Given the description of an element on the screen output the (x, y) to click on. 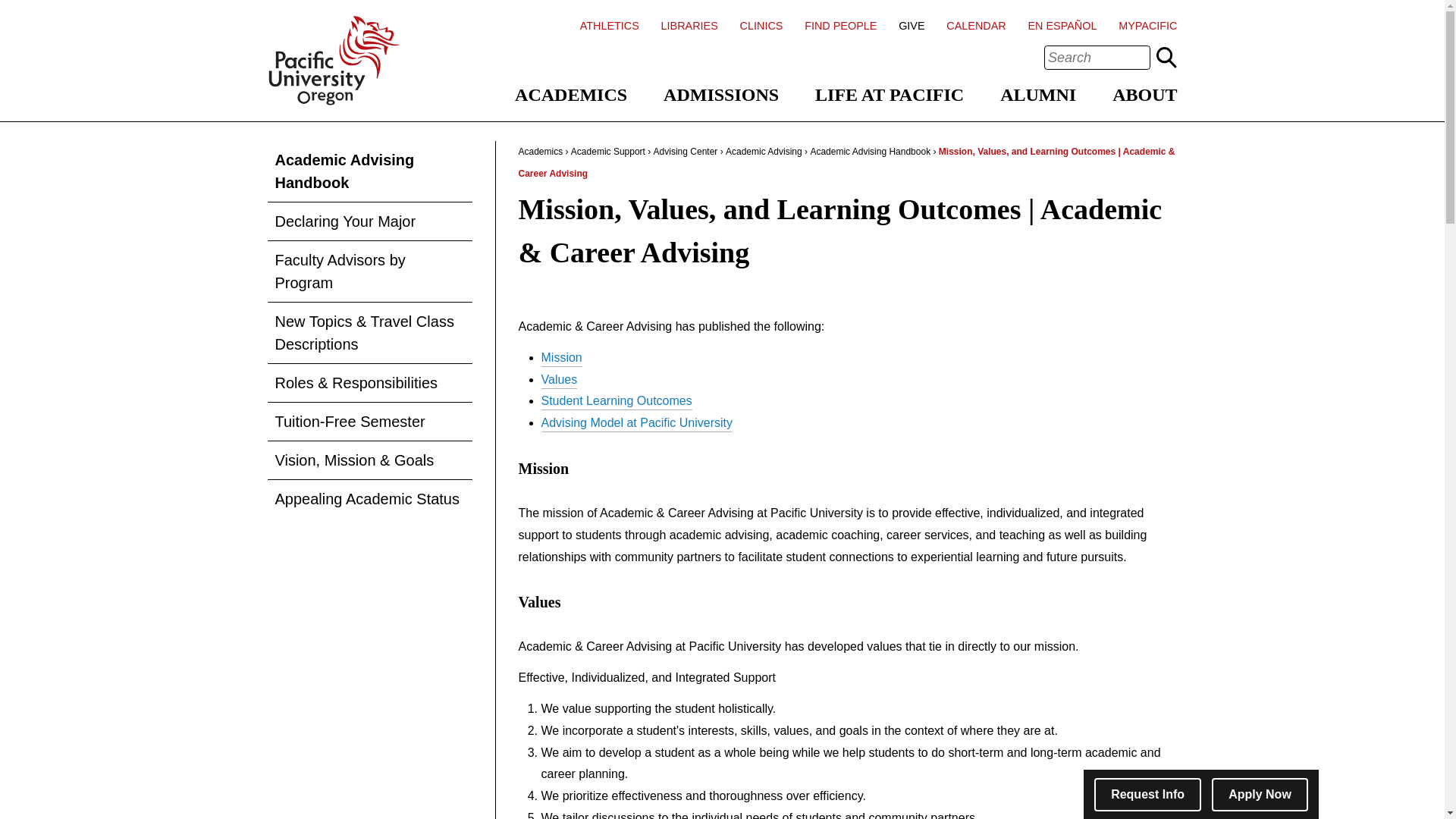
ADMISSIONS (720, 94)
FIND PEOPLE (840, 25)
Faculty Advisors by Program (368, 271)
ALUMNI (1037, 94)
GIVE (911, 25)
ACADEMICS (571, 94)
LIBRARIES (689, 25)
Academic Advising Handbook (368, 171)
Search (1166, 56)
Declaring Your Major (368, 220)
LIFE AT PACIFIC (889, 94)
CALENDAR (976, 25)
ABOUT (1144, 94)
ATHLETICS (609, 25)
CLINICS (761, 25)
